Given the description of an element on the screen output the (x, y) to click on. 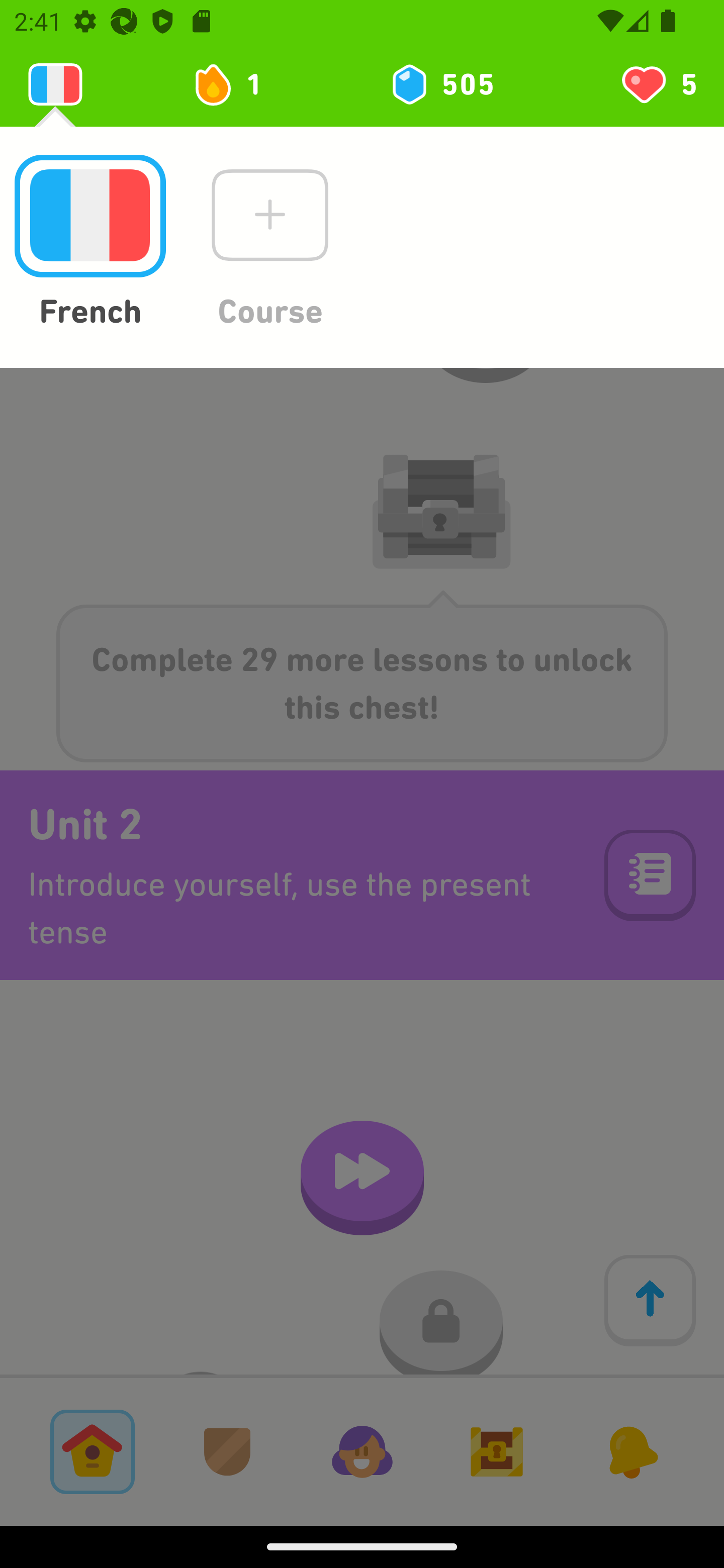
Learning 2131888976 (55, 84)
1 day streak 1 (236, 84)
505 (441, 84)
You have 5 hearts left 5 (657, 84)
French (89, 242)
Course (270, 242)
